Given the description of an element on the screen output the (x, y) to click on. 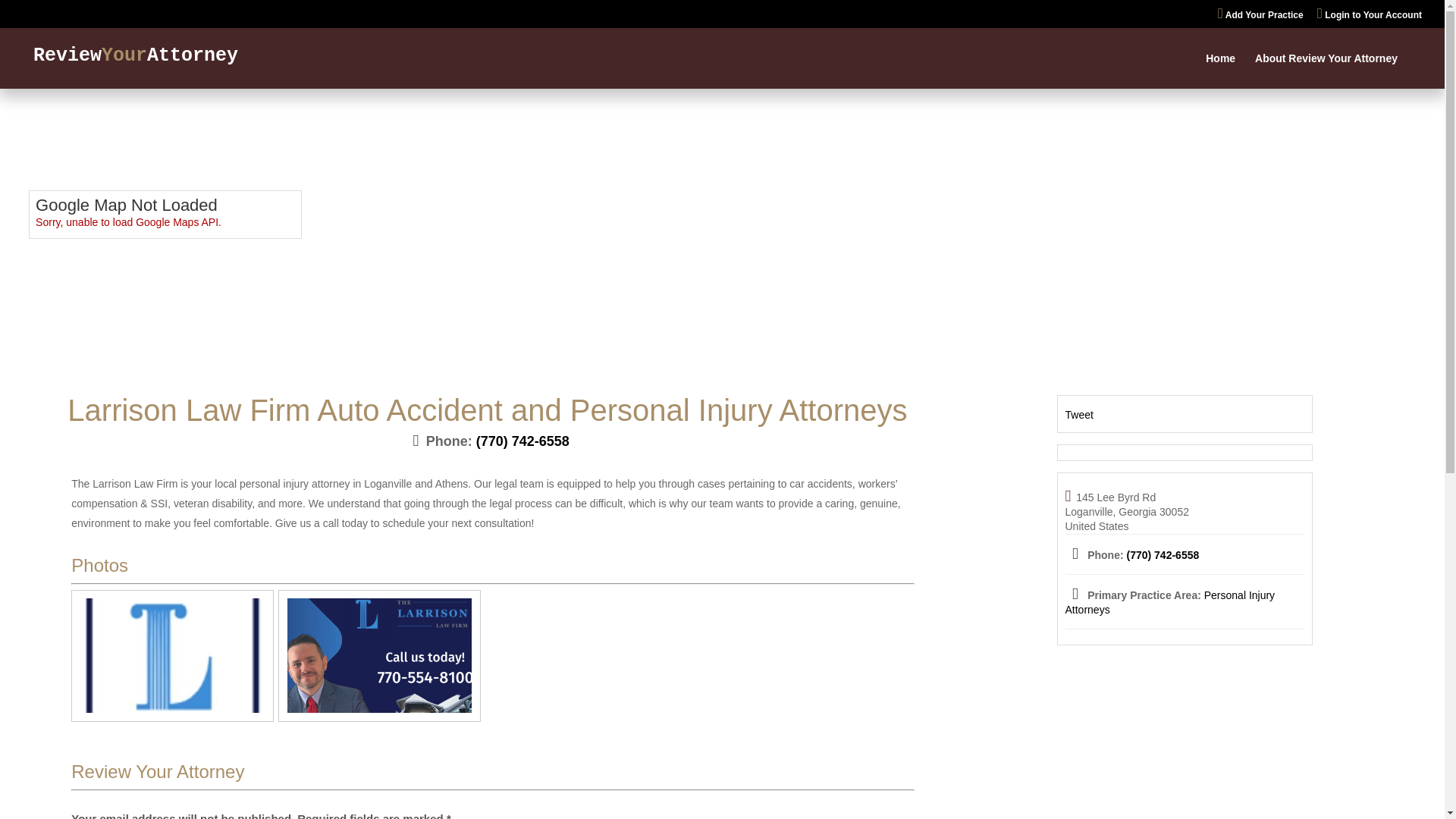
Add Your Practice (1260, 16)
ReviewYourAttorney (135, 56)
Login to Your Account (1369, 16)
Personal Injury Attorneys (1169, 601)
Review Your Attorney (157, 771)
companyPhotoUrl1 (378, 655)
About Review Your Attorney (1326, 70)
Photos (99, 565)
Tweet (1078, 414)
companyLogoUrl (172, 655)
